Given the description of an element on the screen output the (x, y) to click on. 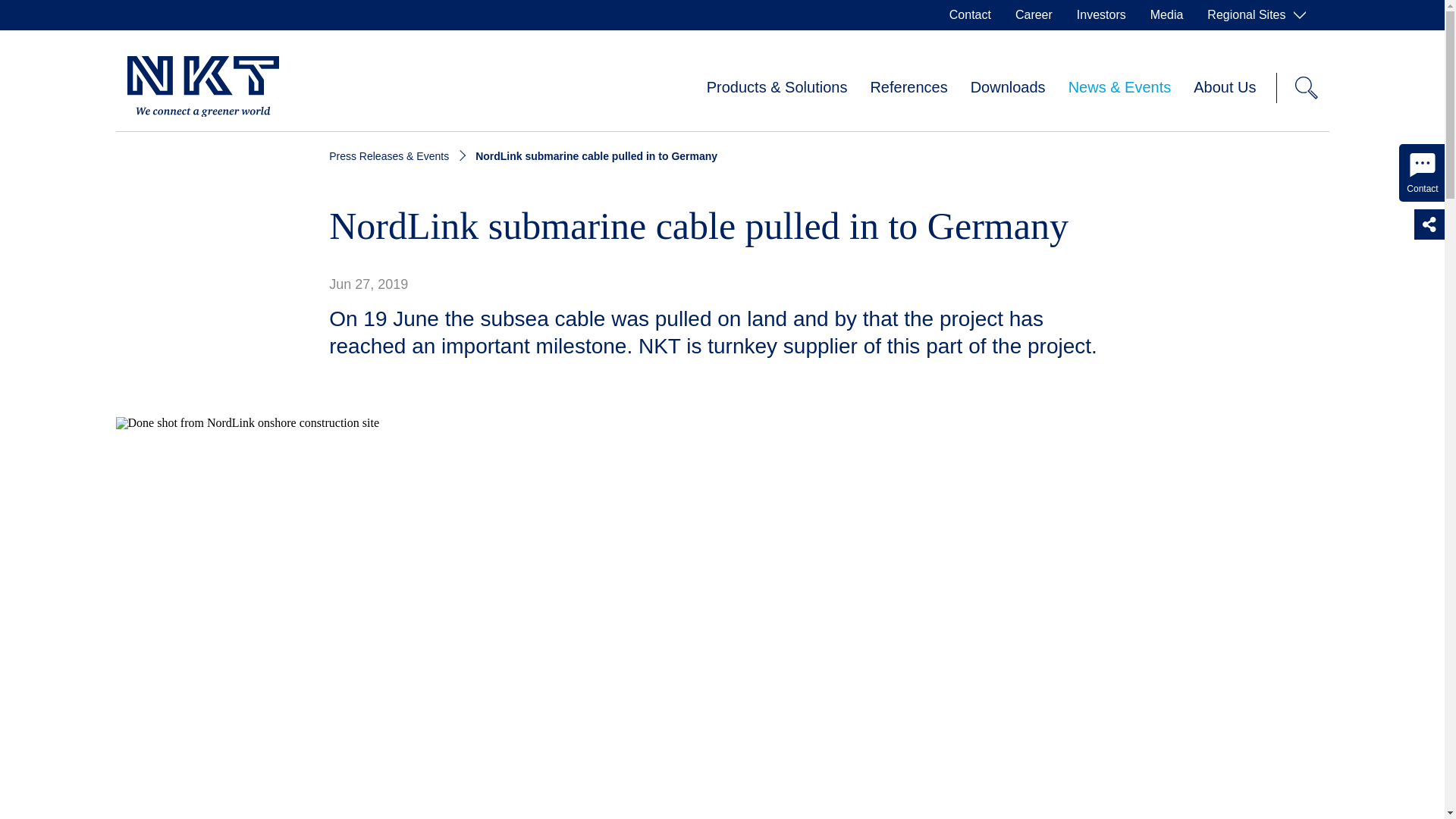
Career (1033, 15)
Investors (1101, 15)
Contact (970, 15)
About Us (1224, 87)
Career (1033, 15)
Investors (1101, 15)
Media  (1166, 15)
Downloads (1008, 87)
Contact (970, 15)
Regional Sites (1256, 15)
Media (1166, 15)
References (908, 87)
To the homepage (203, 87)
